Given the description of an element on the screen output the (x, y) to click on. 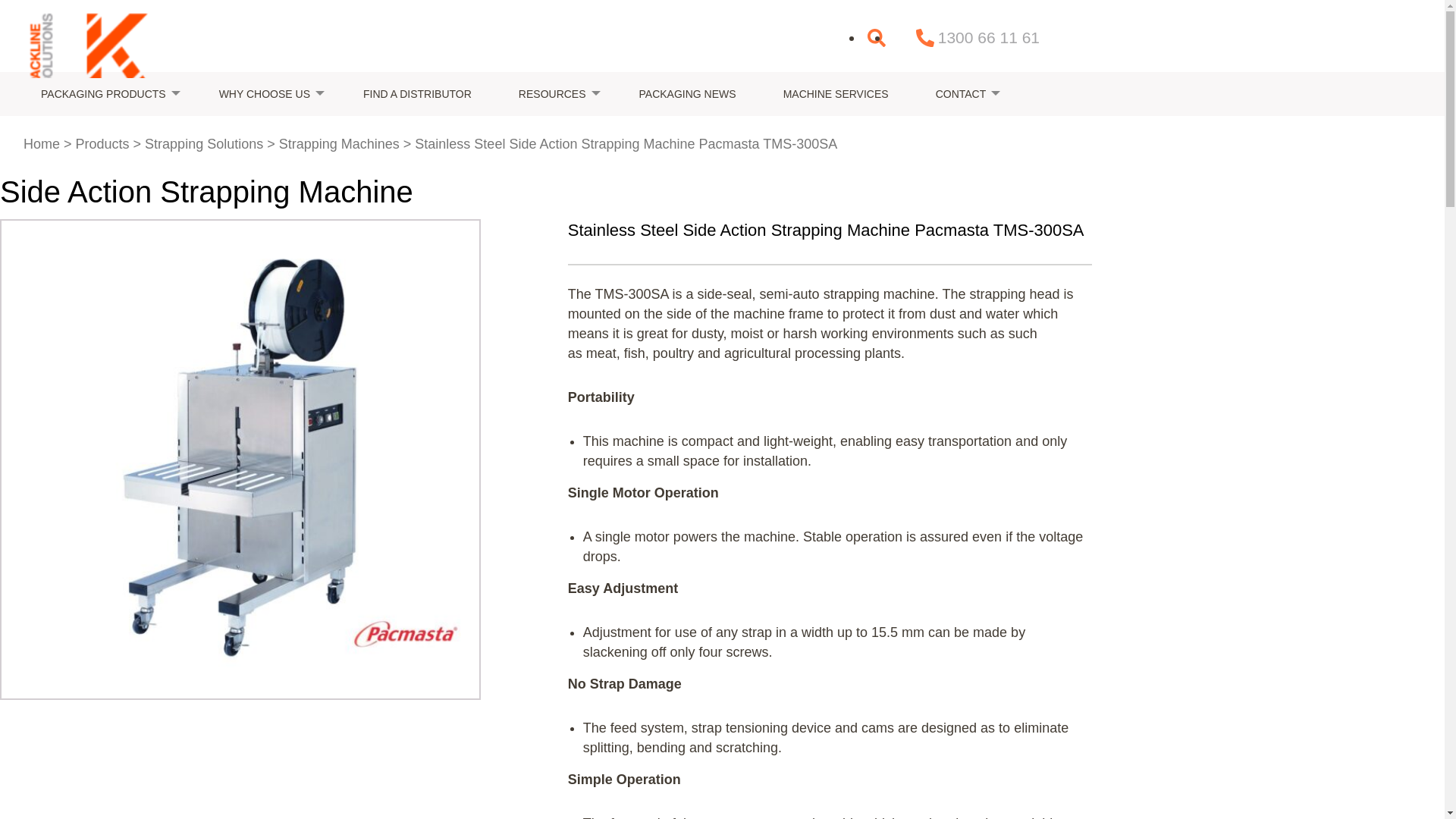
CONTACT (963, 93)
WHY CHOOSE US (267, 93)
1300 66 11 61 (977, 38)
RESOURCES (555, 93)
MACHINE SERVICES (836, 93)
PACKAGING PRODUCTS (106, 93)
FIND A DISTRIBUTOR (416, 93)
PACKAGING NEWS (687, 93)
